Given the description of an element on the screen output the (x, y) to click on. 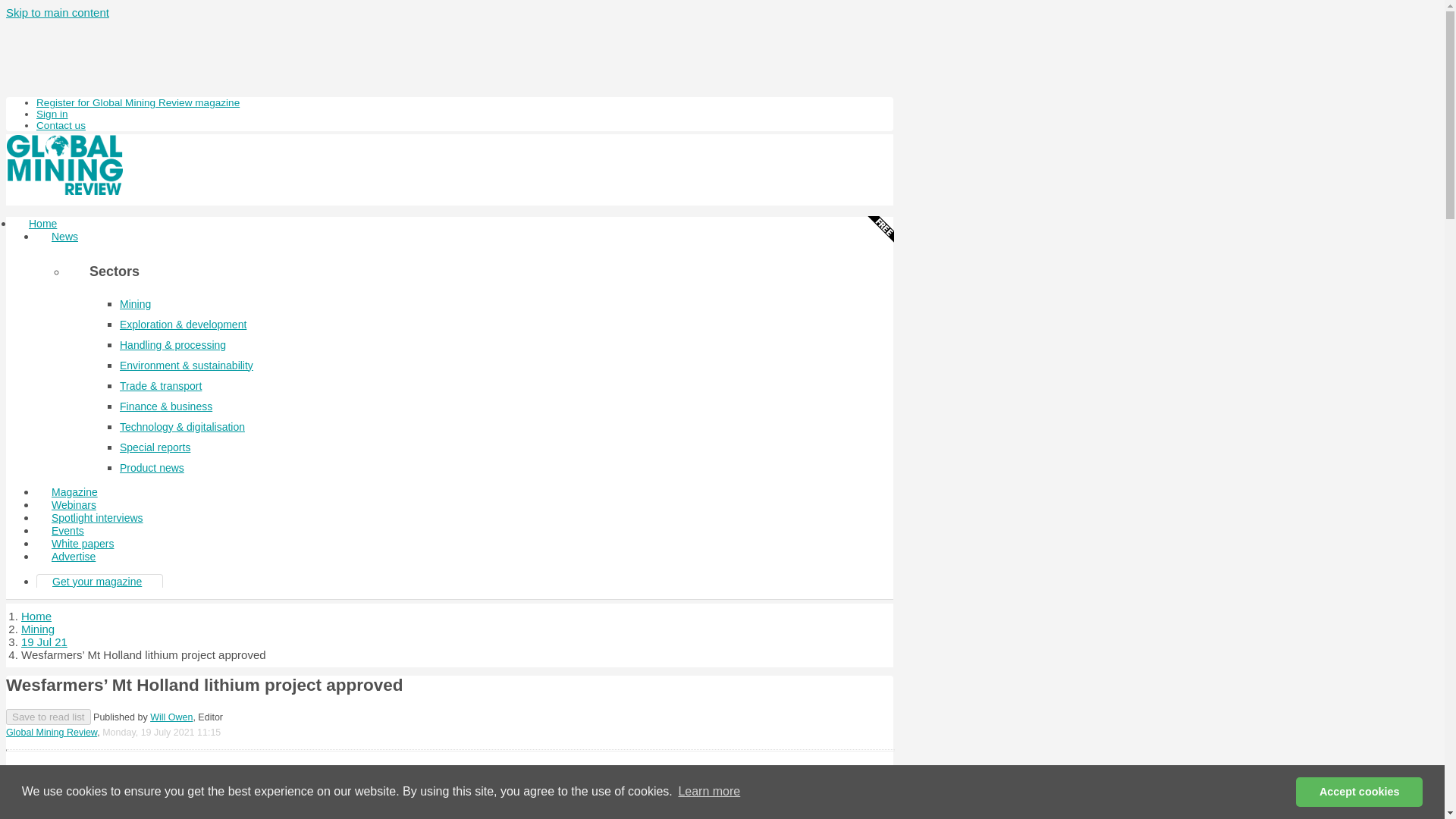
Register for Global Mining Review magazine (138, 102)
Webinars (74, 504)
Get your magazine (97, 581)
Home (35, 615)
Global Mining Review (51, 732)
Sign in (52, 113)
Special reports (154, 447)
Mining (135, 304)
Home (42, 223)
Accept cookies (1358, 791)
Will Owen (170, 716)
3rd party ad content (449, 56)
Contact us (60, 125)
Contact us (60, 125)
Spotlight interviews (97, 517)
